Given the description of an element on the screen output the (x, y) to click on. 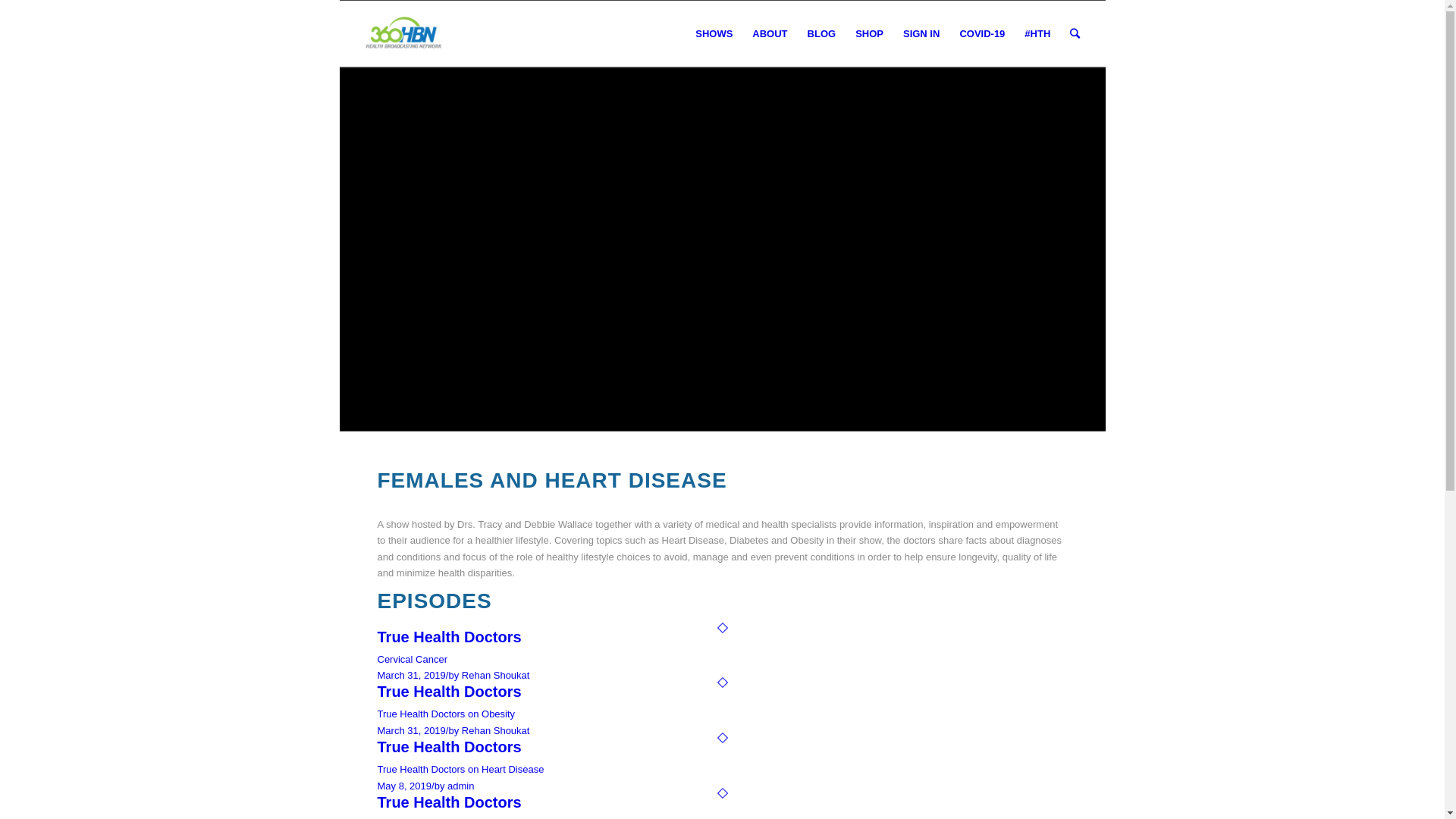
SIGN IN Element type: text (921, 33)
COVID-19 Element type: text (981, 33)
ABOUT Element type: text (769, 33)
BLOG Element type: text (821, 33)
SHOP Element type: text (869, 33)
#HTH Element type: text (1037, 33)
SHOWS Element type: text (713, 33)
